Given the description of an element on the screen output the (x, y) to click on. 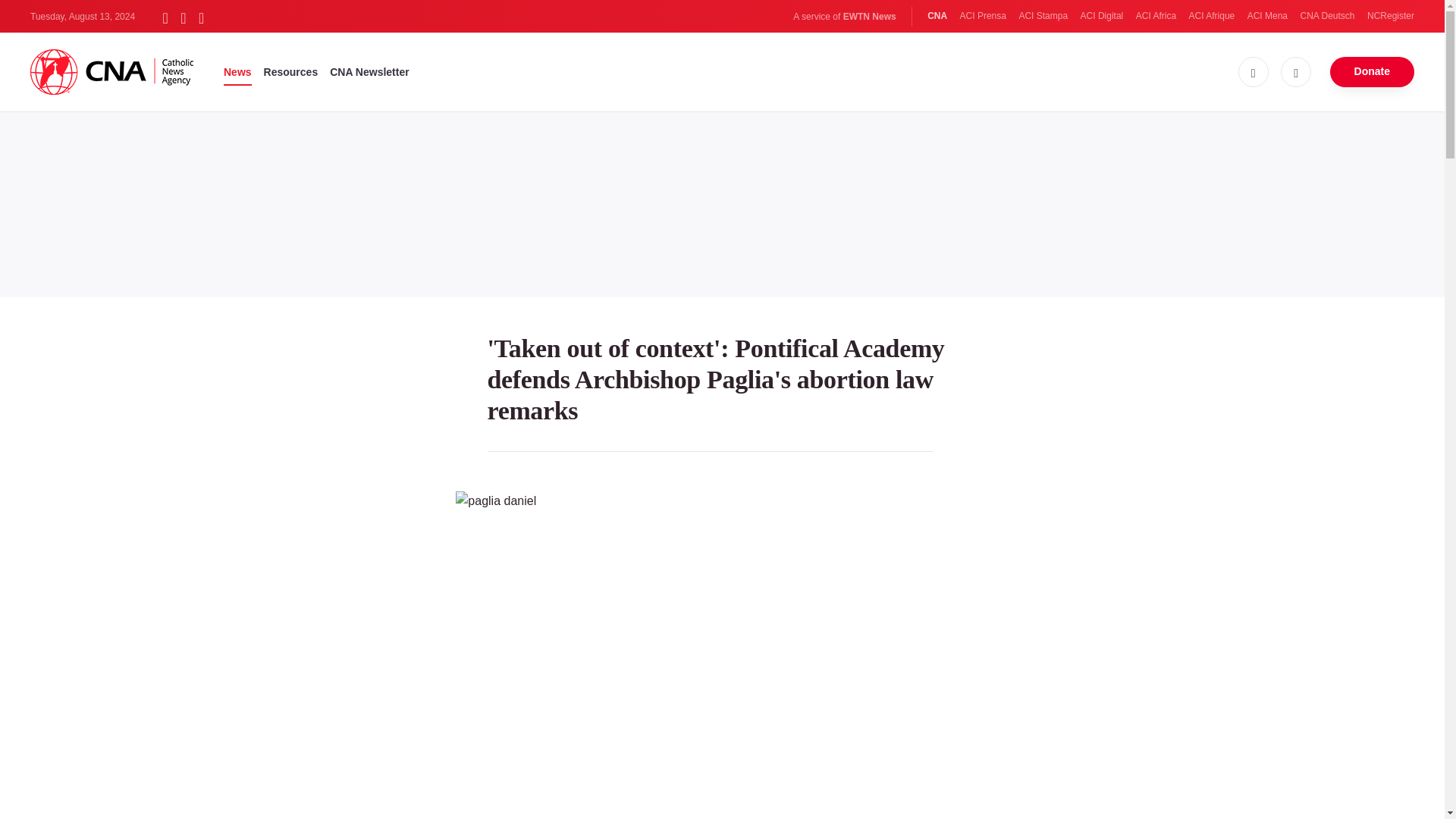
Resources (290, 71)
EWTN News (869, 16)
NCRegister (1390, 16)
ACI Stampa (1042, 16)
ACI Prensa (982, 16)
ACI Mena (1267, 16)
CNA (937, 16)
ACI Africa (1155, 16)
News (237, 71)
EWTN News (869, 16)
